Given the description of an element on the screen output the (x, y) to click on. 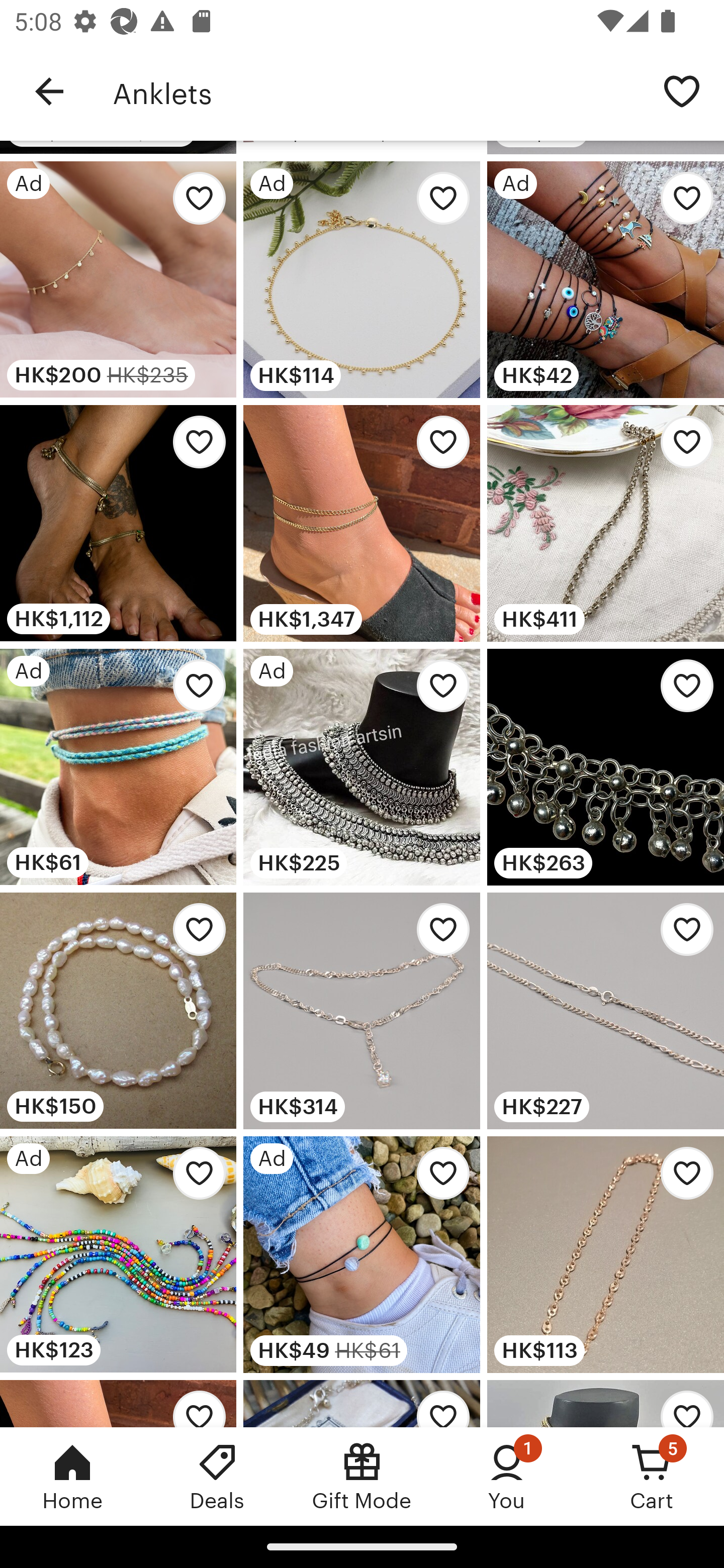
Navigate up (49, 91)
Save search (681, 90)
Anklets (375, 91)
Add Vintage Silvertone chain anklet to favorites (681, 691)
Add Rio colourful beaded anklets .. to favorites (194, 1178)
Add Simple Yellow Metal Anklet to favorites (681, 1178)
Deals (216, 1475)
Gift Mode (361, 1475)
You, 1 new notification You (506, 1475)
Cart, 5 new notifications Cart (651, 1475)
